Given the description of an element on the screen output the (x, y) to click on. 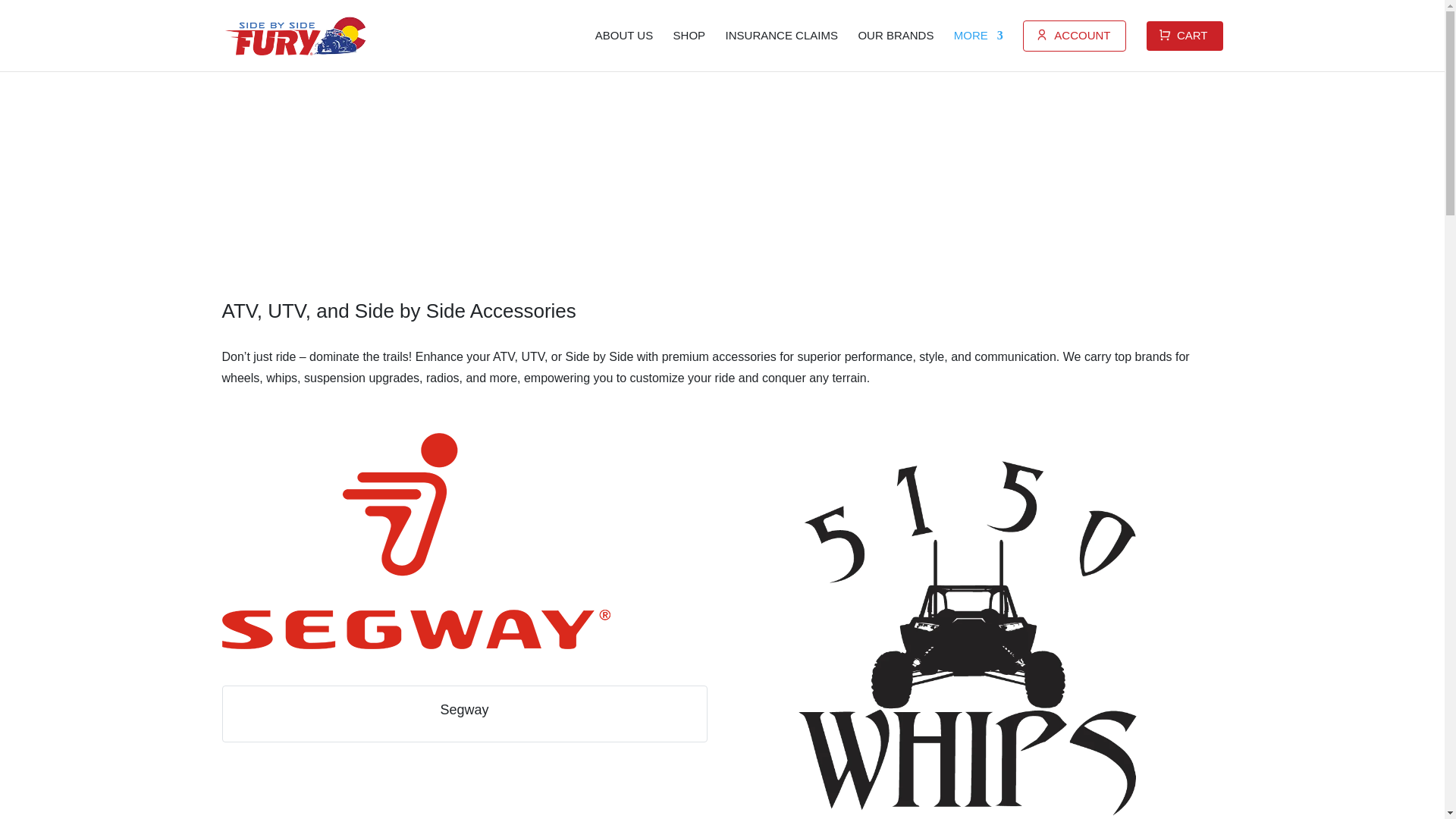
Segway-Red (415, 541)
ACCOUNT (1074, 35)
CART (1185, 35)
INSURANCE CLAIMS (781, 35)
OUR BRANDS (895, 35)
